Given the description of an element on the screen output the (x, y) to click on. 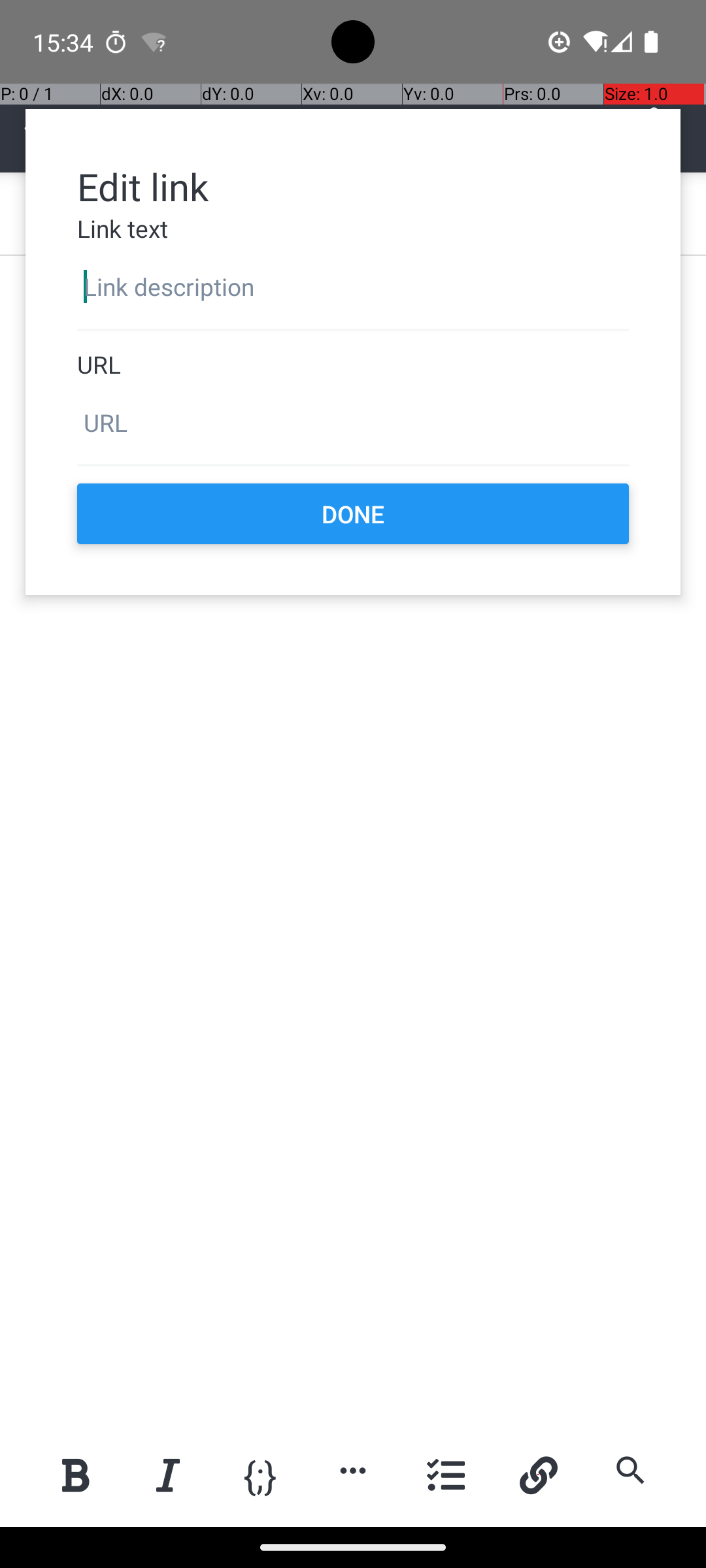
Edit link Element type: android.widget.TextView (352, 185)
Link text Element type: android.widget.TextView (352, 228)
Link description Element type: android.widget.EditText (352, 287)
URL Element type: android.widget.TextView (352, 363)
